Given the description of an element on the screen output the (x, y) to click on. 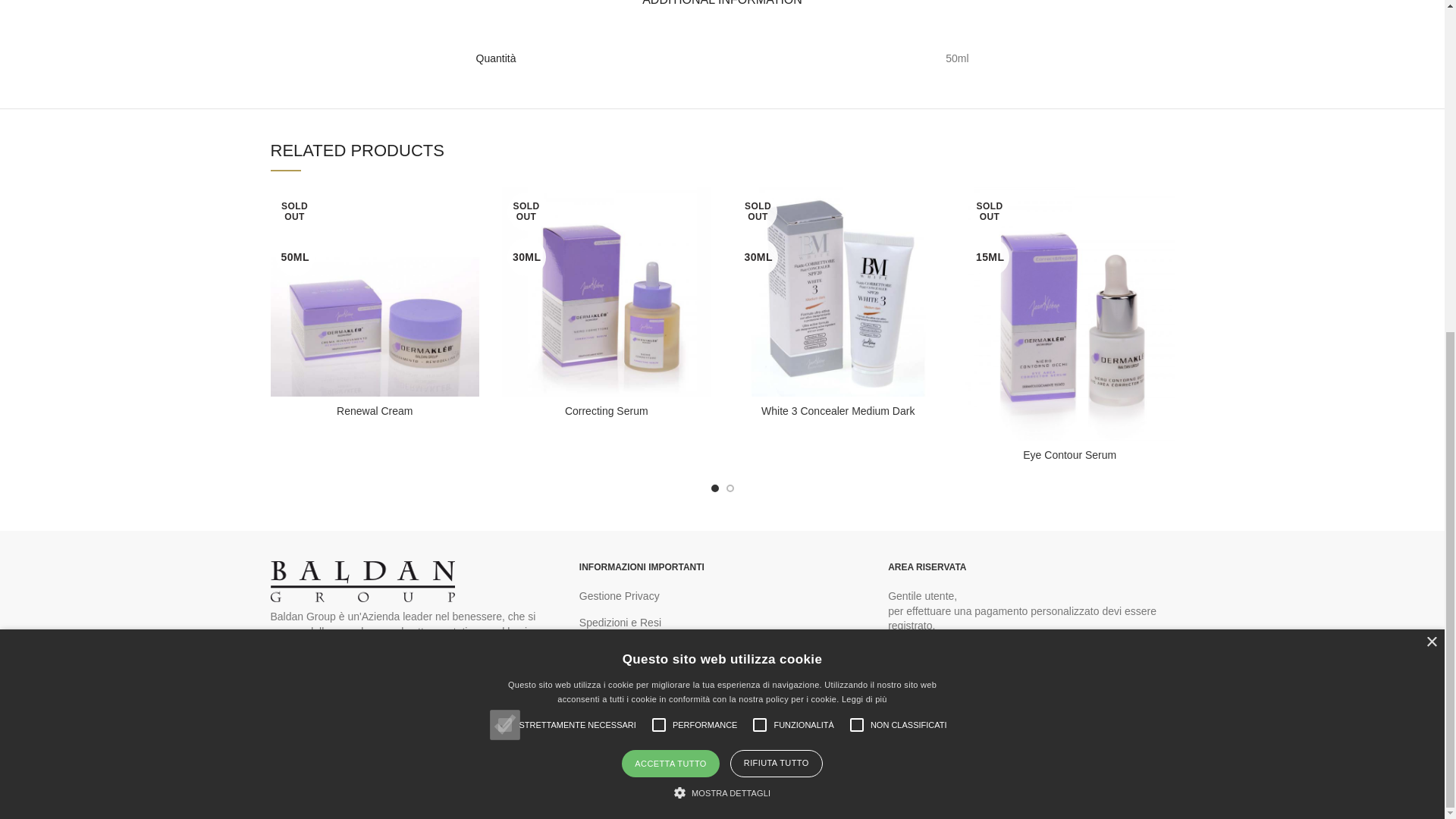
strict (504, 173)
